Given the description of an element on the screen output the (x, y) to click on. 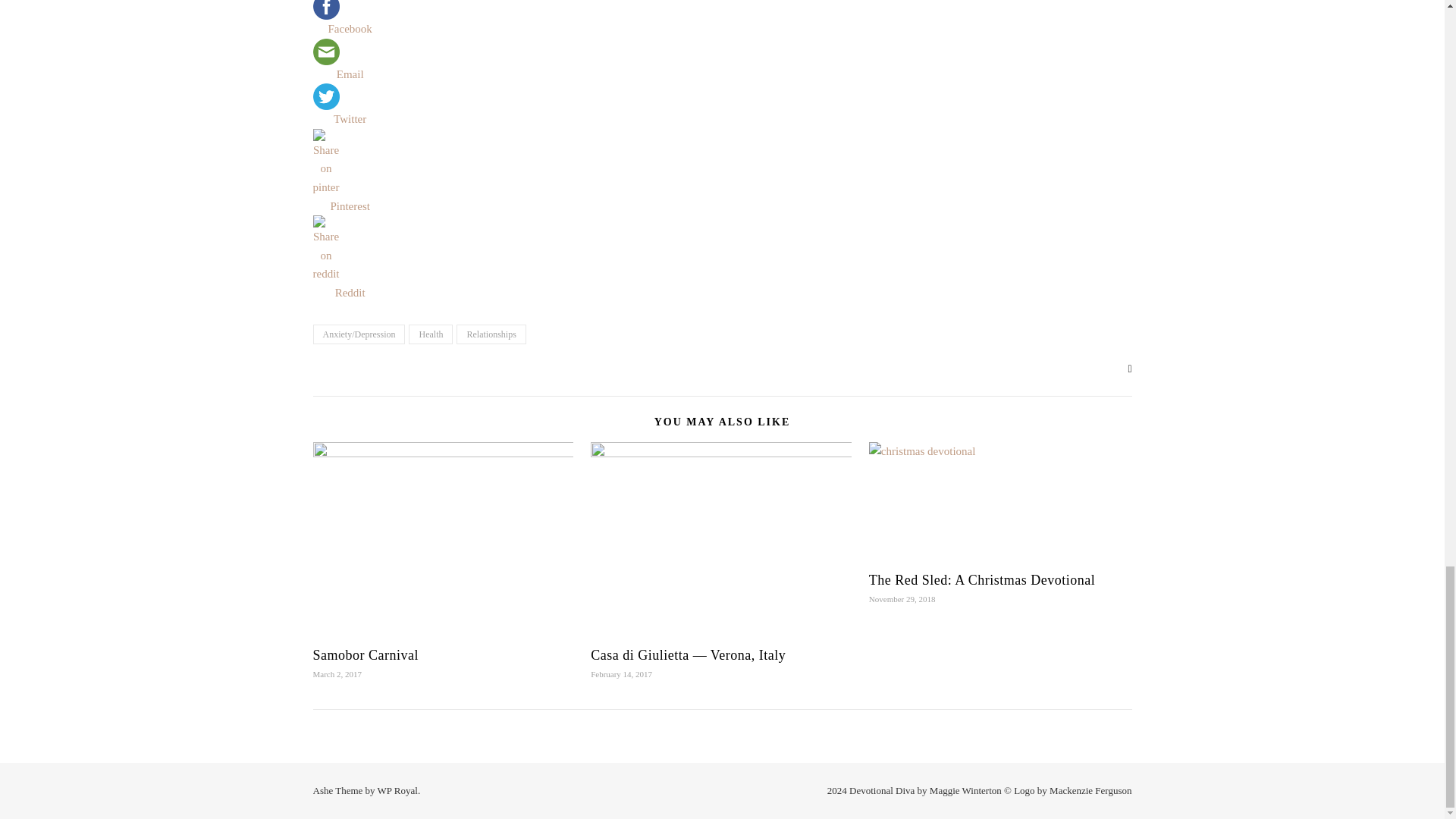
WP Royal (397, 790)
facebook (326, 9)
Facebook (350, 19)
Email (350, 61)
twitter (326, 96)
email (326, 51)
Twitter (350, 118)
Email (350, 74)
Facebook (350, 28)
Twitter (350, 105)
